Given the description of an element on the screen output the (x, y) to click on. 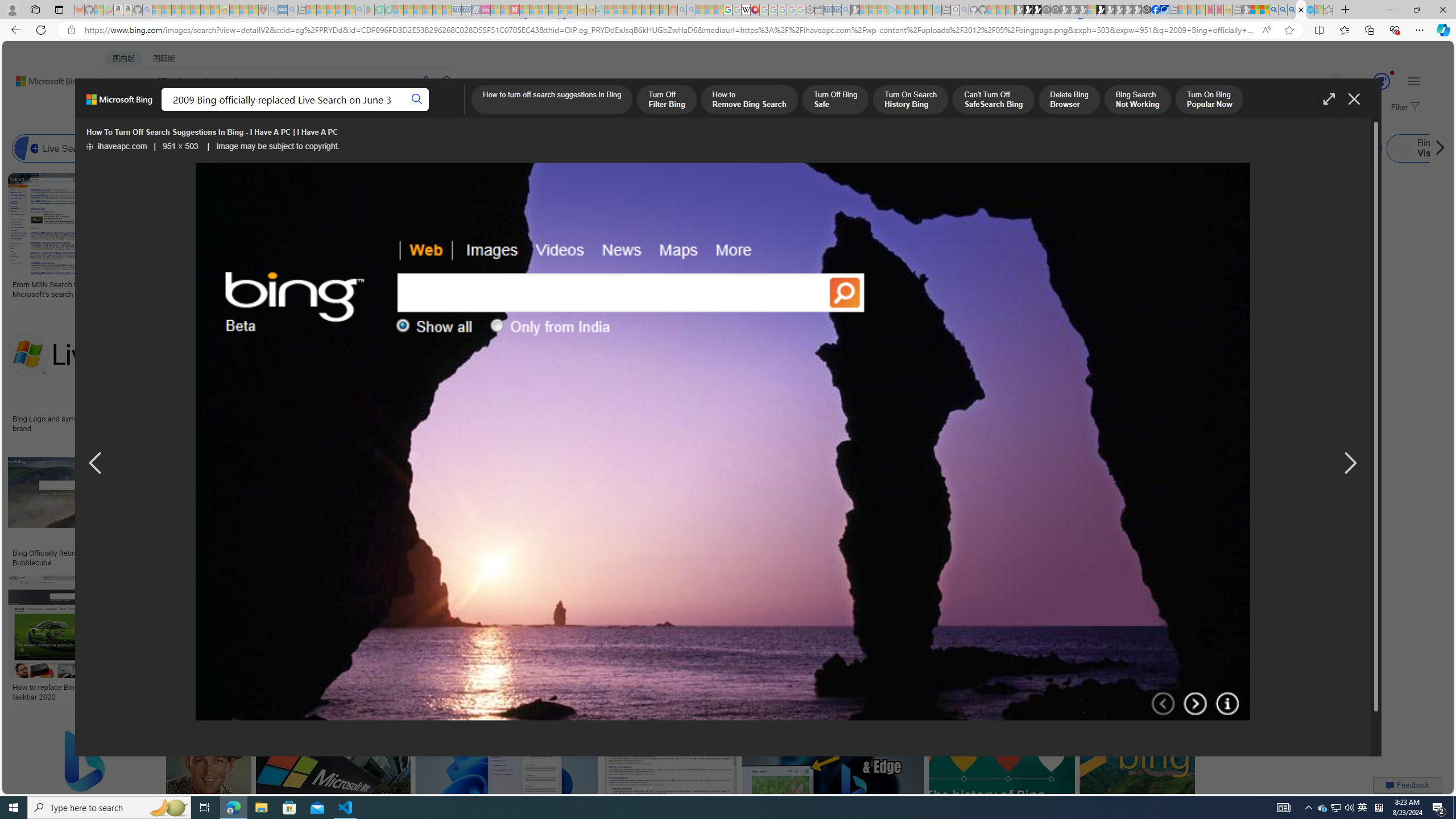
Home | Sky Blue Bikes - Sky Blue Bikes - Sleeping (936, 9)
Https Bing Search Q MSN (1234, 148)
microsoft bing (991, 419)
Sign in to your account - Sleeping (1090, 9)
Services - Maintenance | Sky Blue Bikes - Sky Blue Bikes (1309, 9)
Bing Best Search Engine (684, 148)
Back to Bing search (41, 78)
